Given the description of an element on the screen output the (x, y) to click on. 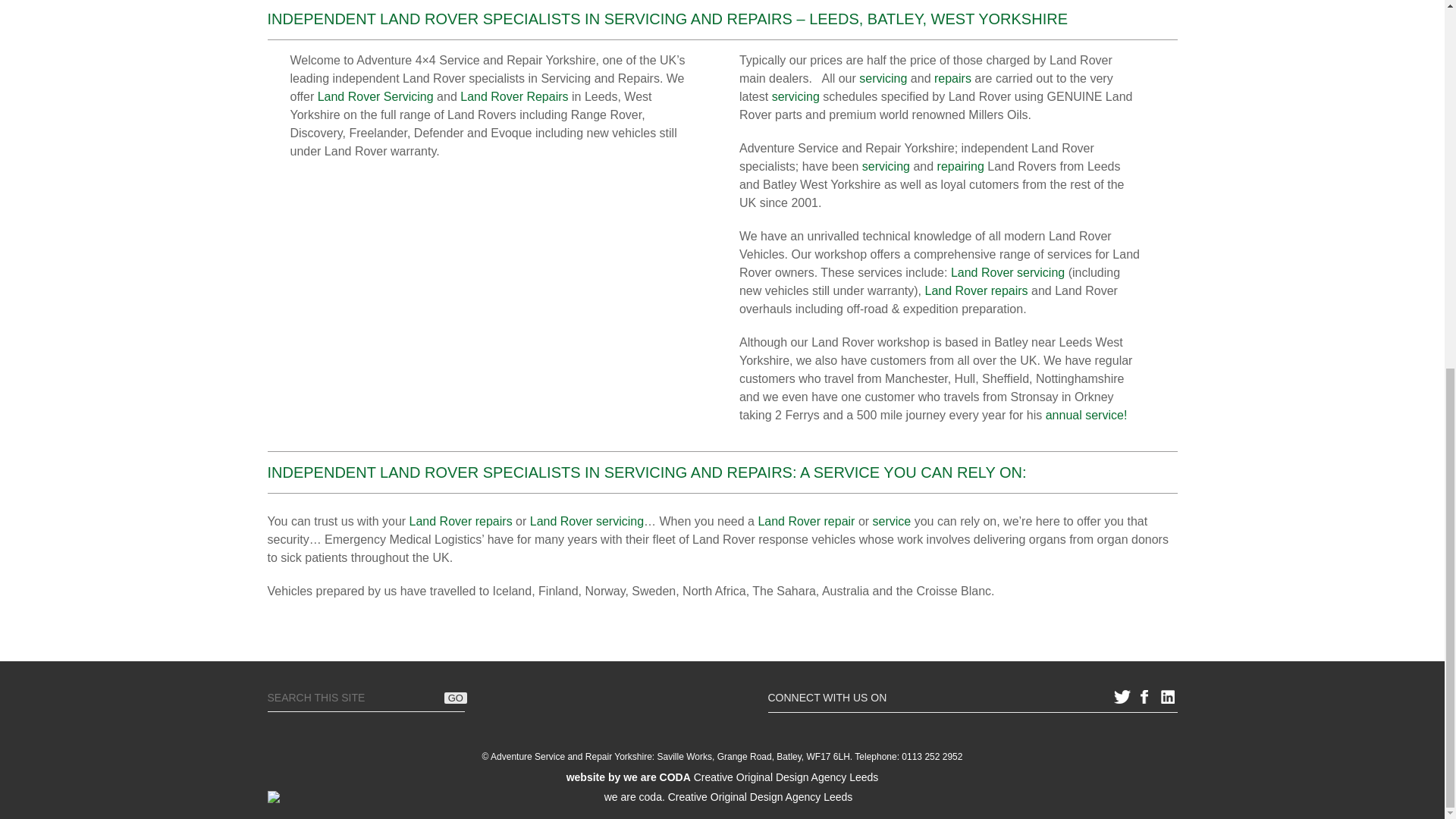
servicing (885, 165)
Land Rover servicing (1007, 272)
Go (455, 697)
servicing (795, 96)
website by we are CODA Creative Original Design Agency Leeds (722, 776)
INDEPENDENT LAND ROVER SPECIALISTS IN SERVICING (478, 472)
Land Rover Servicing (375, 96)
service (891, 521)
repairs (952, 78)
Go (455, 697)
REPAIRS: A SERVICE (803, 472)
Land Rover Repairs (513, 96)
Land Rover repair (808, 521)
Land Rover repairs (975, 290)
Land Rover repairs (460, 521)
